Given the description of an element on the screen output the (x, y) to click on. 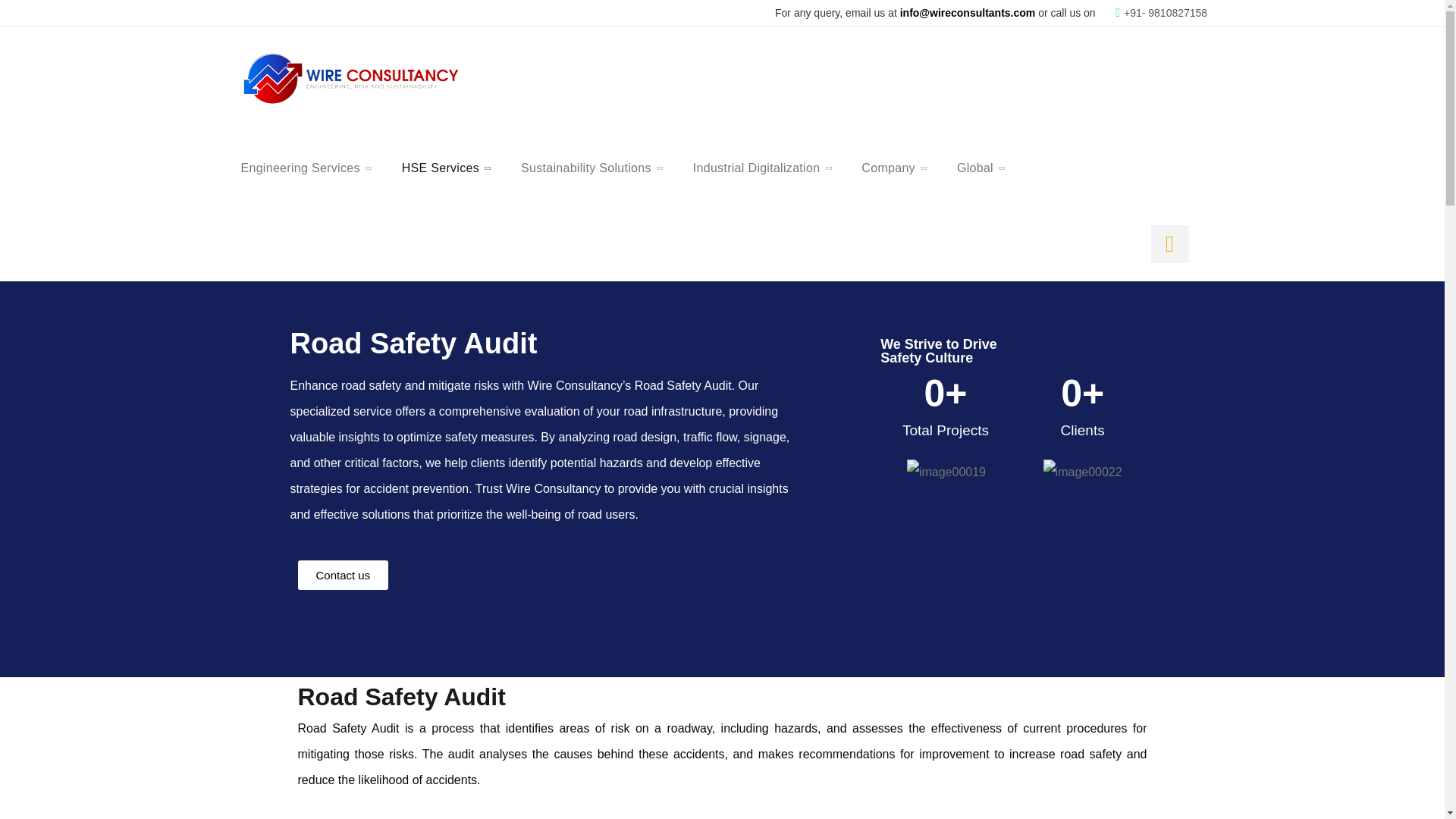
Engineering Services (300, 167)
image00019 (946, 472)
image00022 (1082, 472)
